Given the description of an element on the screen output the (x, y) to click on. 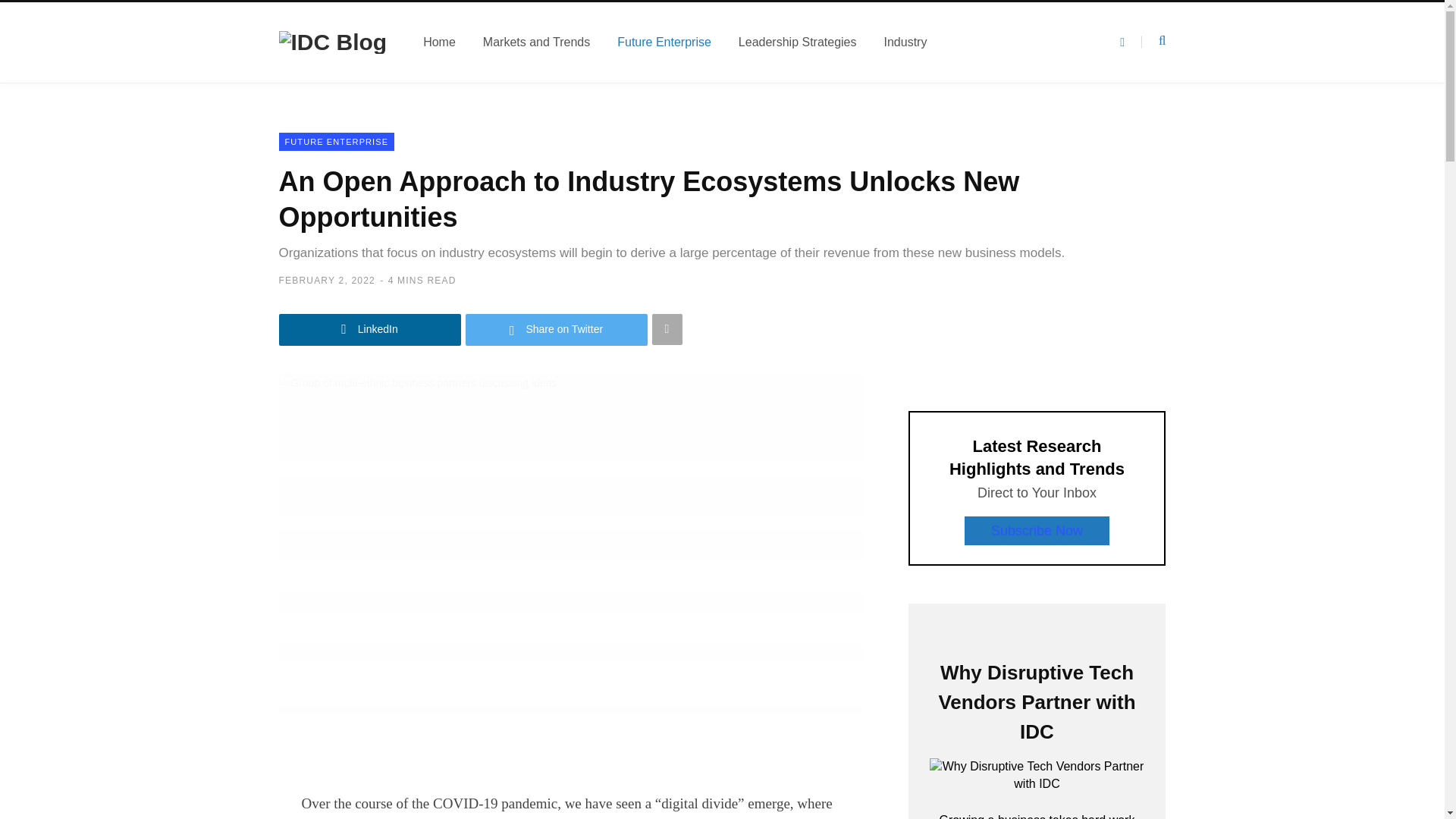
FUTURE ENTERPRISE (336, 141)
LinkedIn (370, 328)
Leadership Strategies (797, 41)
Markets and Trends (536, 41)
LinkedIn (370, 328)
Share on Twitter (556, 328)
Home (438, 41)
Search (1153, 41)
FEBRUARY 2, 2022 (327, 280)
Visit IDC.com (333, 42)
